Given the description of an element on the screen output the (x, y) to click on. 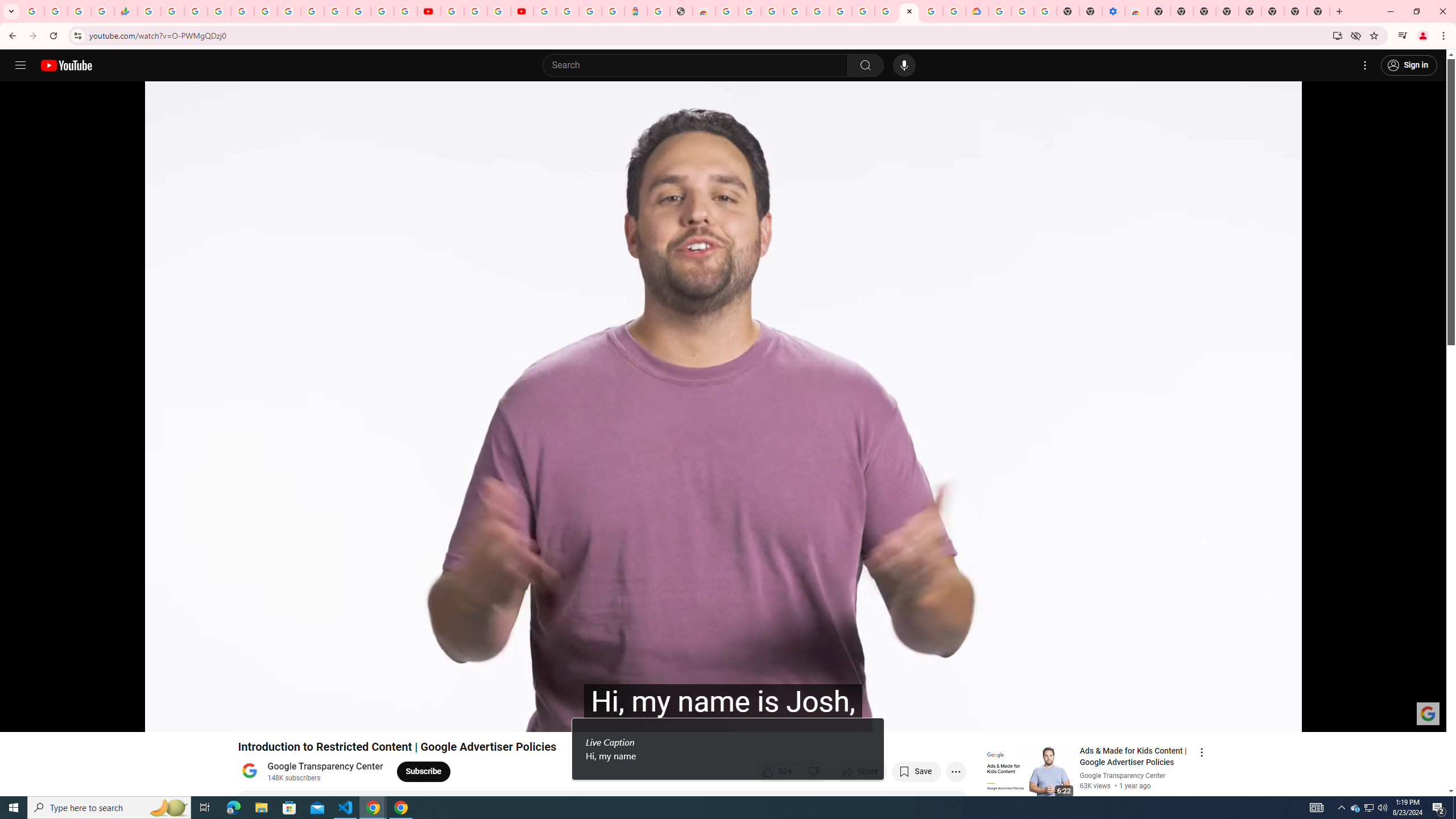
YouTube (312, 11)
Browse the Google Chrome Community - Google Chrome Community (954, 11)
Miniplayer (i) (1370, 718)
Dislike this video (815, 771)
Sign in - Google Accounts (381, 11)
Save to playlist (915, 771)
Sign in - Google Accounts (218, 11)
New Tab (1158, 11)
Subtitles/closed captions unavailable (1316, 718)
